Given the description of an element on the screen output the (x, y) to click on. 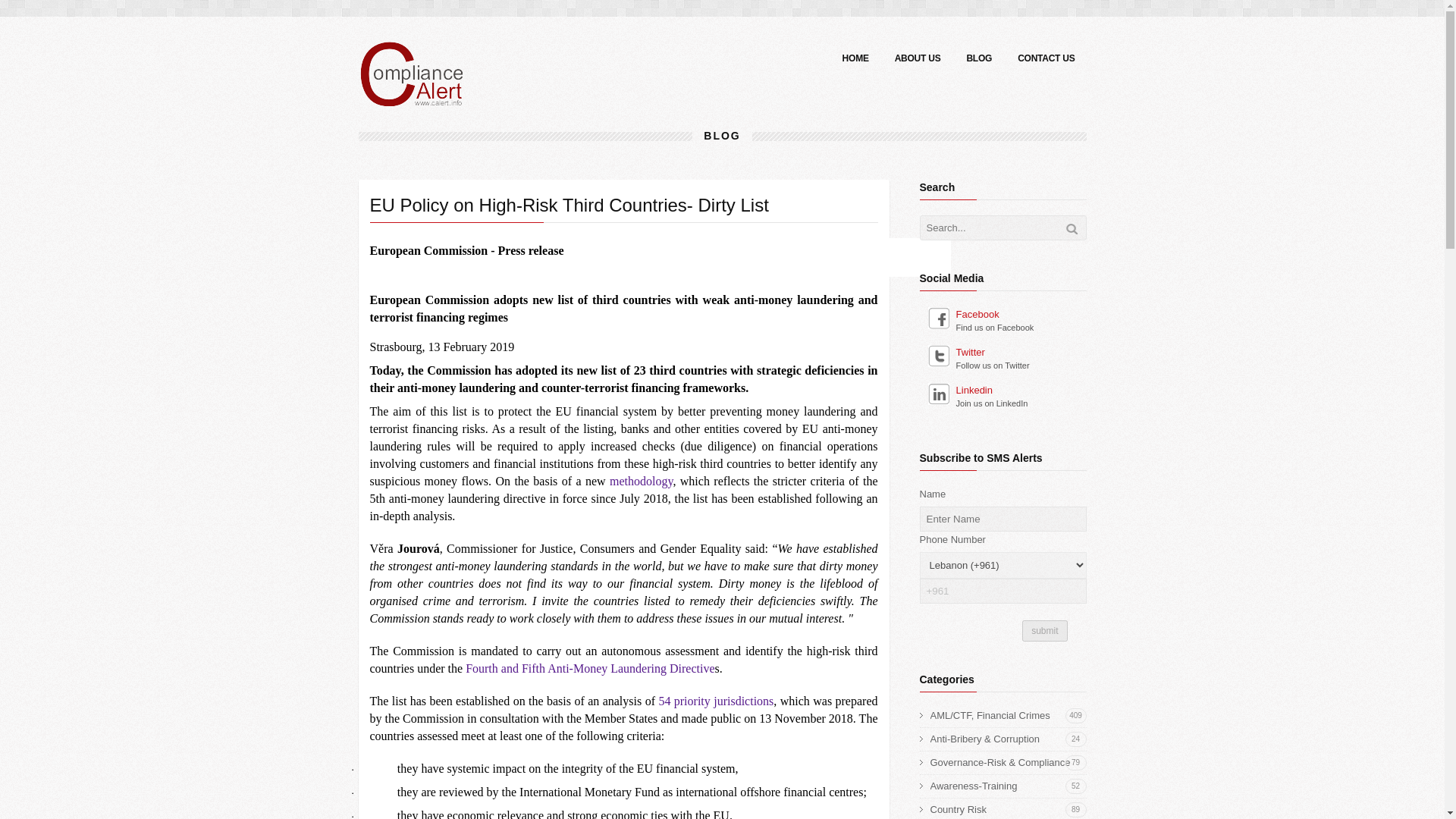
Search (1072, 228)
Facebook (1005, 314)
Newa : (411, 96)
54 priority jurisdictions (715, 700)
ABOUT US (917, 60)
submit (1008, 809)
Fourth and Fifth Anti-Money Laundering Directive (1044, 630)
BLOG (589, 667)
